Given the description of an element on the screen output the (x, y) to click on. 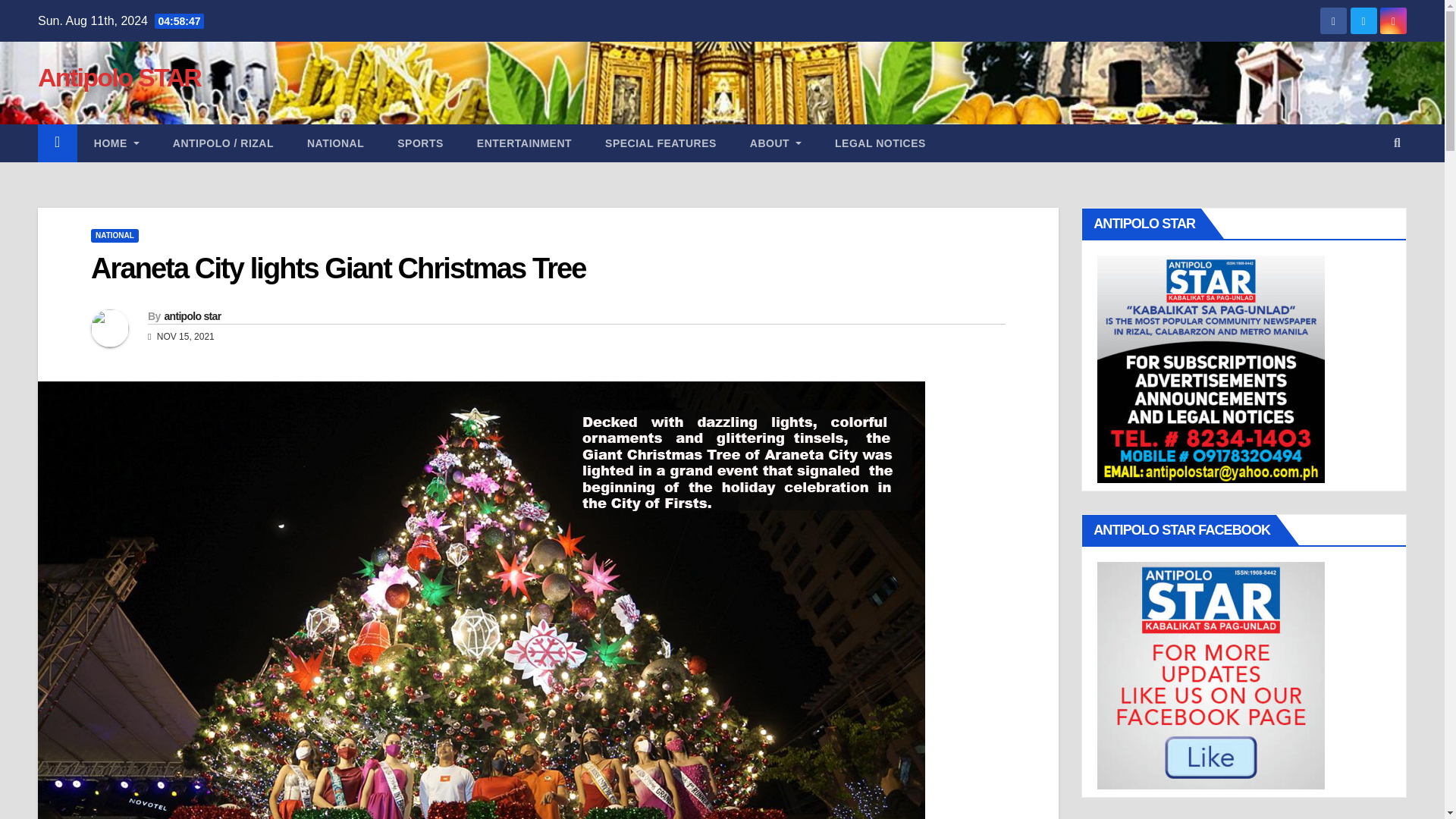
Permalink to: Araneta City lights Giant Christmas Tree (338, 268)
ENTERTAINMENT (524, 143)
SPECIAL FEATURES (660, 143)
NATIONAL (334, 143)
SPECIAL FEATURES (660, 143)
SPORTS (420, 143)
HOME (116, 143)
Antipolo STAR (118, 77)
LEGAL NOTICES (880, 143)
NATIONAL (114, 235)
